Given the description of an element on the screen output the (x, y) to click on. 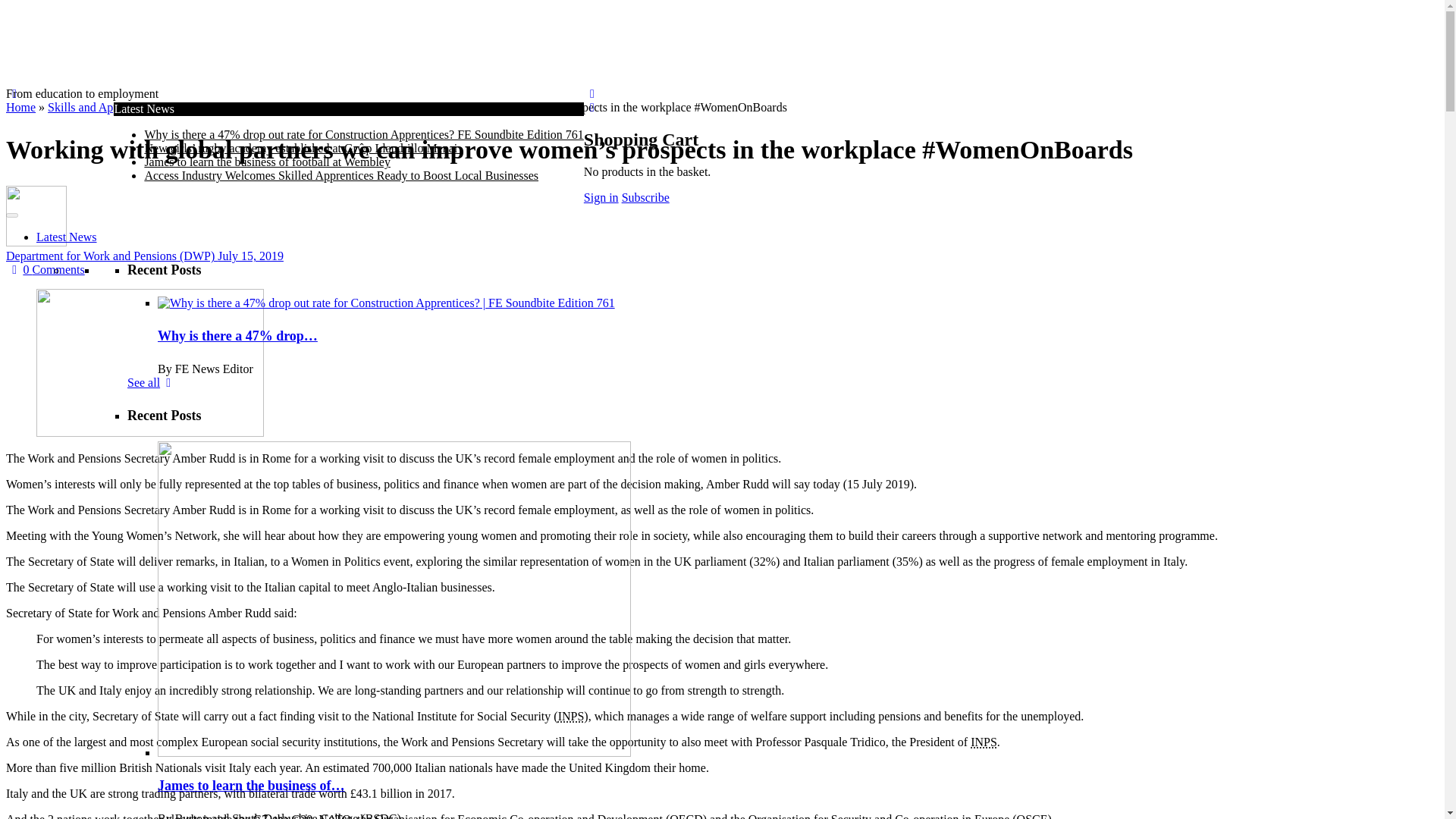
See all (152, 382)
Sign in (600, 196)
Subscribe (645, 196)
James to learn the business of football at Wembley (267, 161)
Latest News (66, 236)
